Given the description of an element on the screen output the (x, y) to click on. 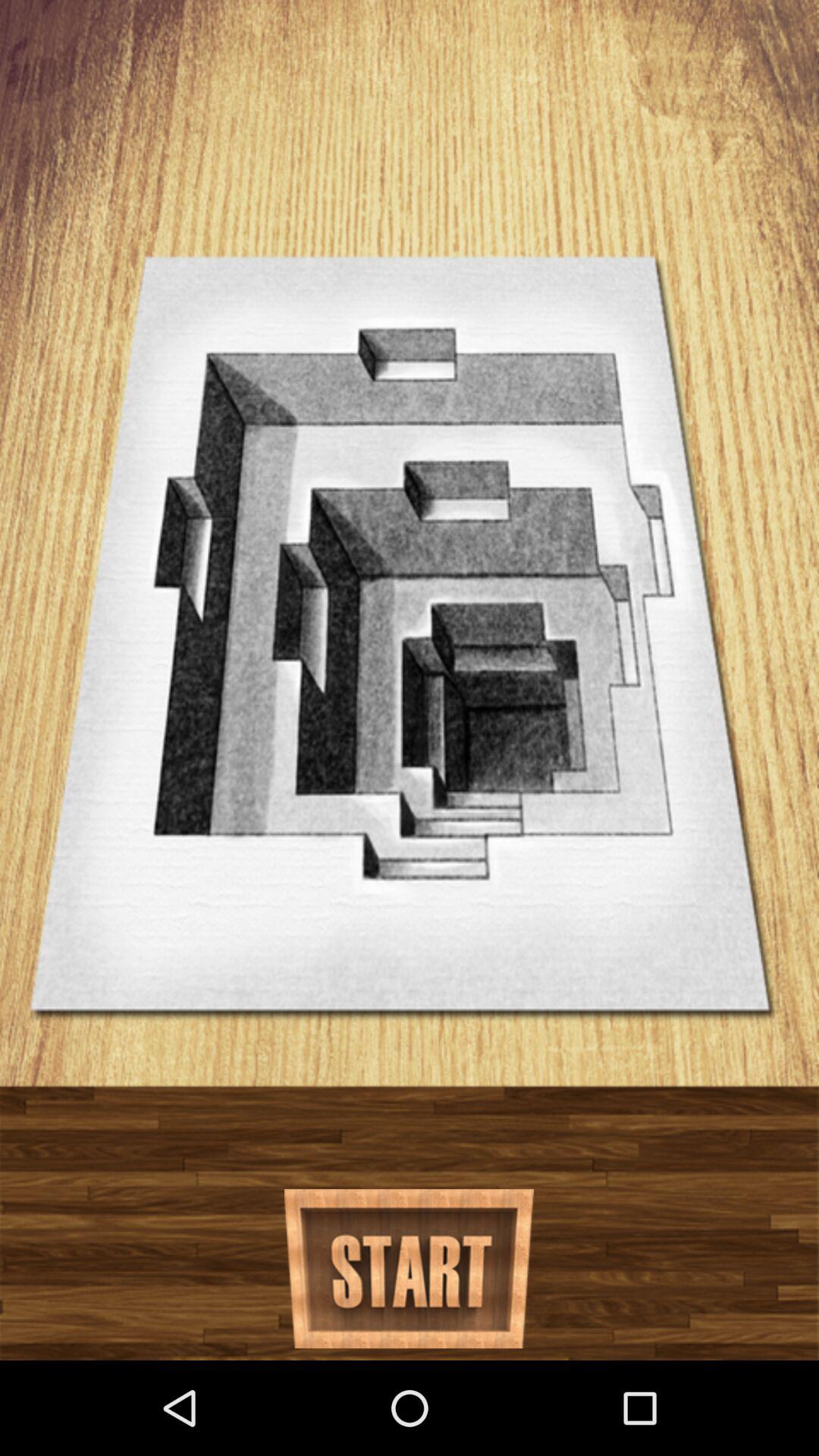
start (409, 1268)
